Given the description of an element on the screen output the (x, y) to click on. 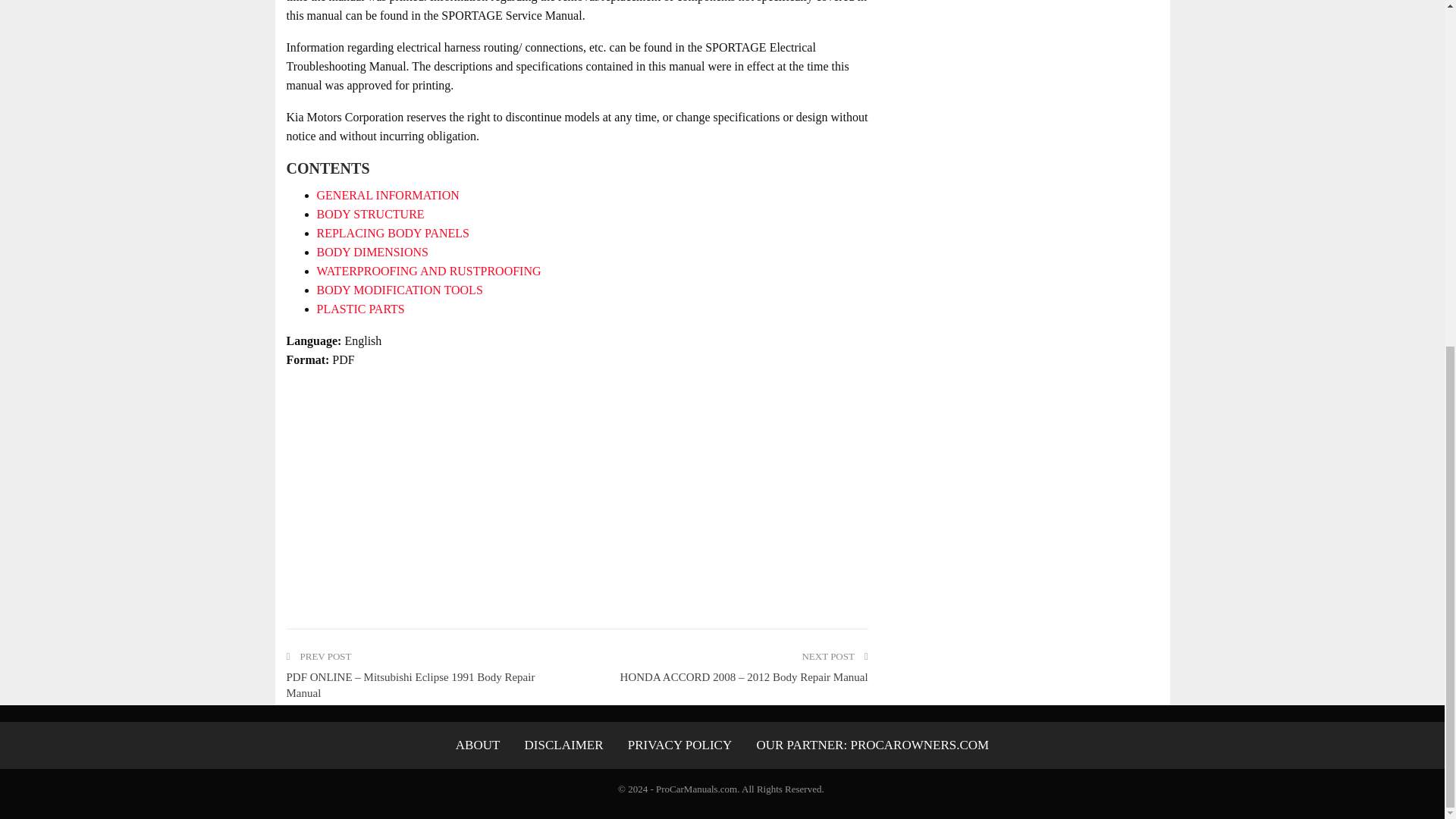
BODY DIMENSIONS (372, 251)
REPLACING BODY PANELS (393, 232)
GENERAL INFORMATION (388, 195)
BODY MODIFICATION TOOLS (400, 289)
WATERPROOFING AND RUSTPROOFING (429, 270)
BODY STRUCTURE (371, 214)
